Given the description of an element on the screen output the (x, y) to click on. 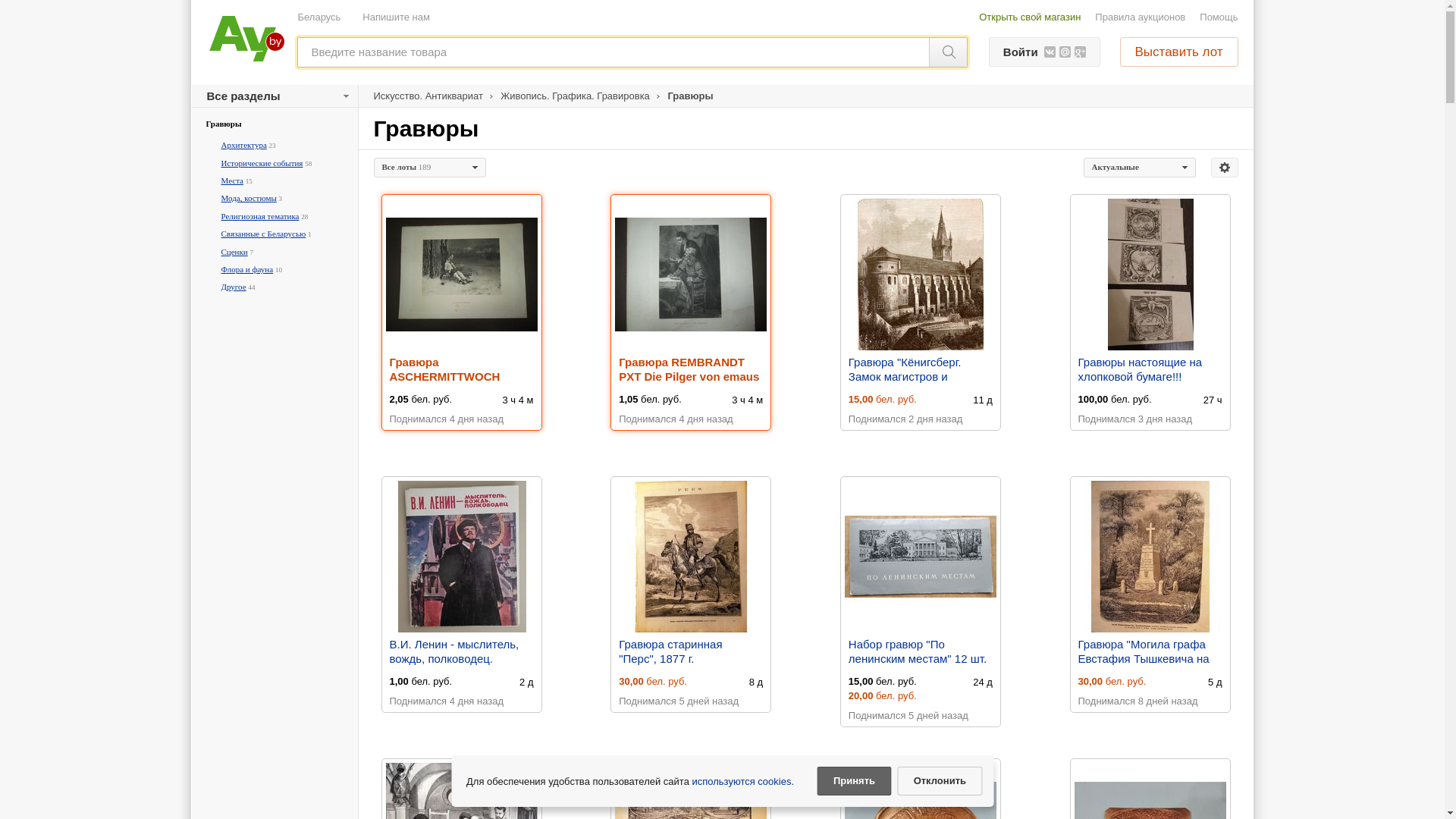
login Element type: text (721, 172)
pp Element type: text (721, 291)
